Given the description of an element on the screen output the (x, y) to click on. 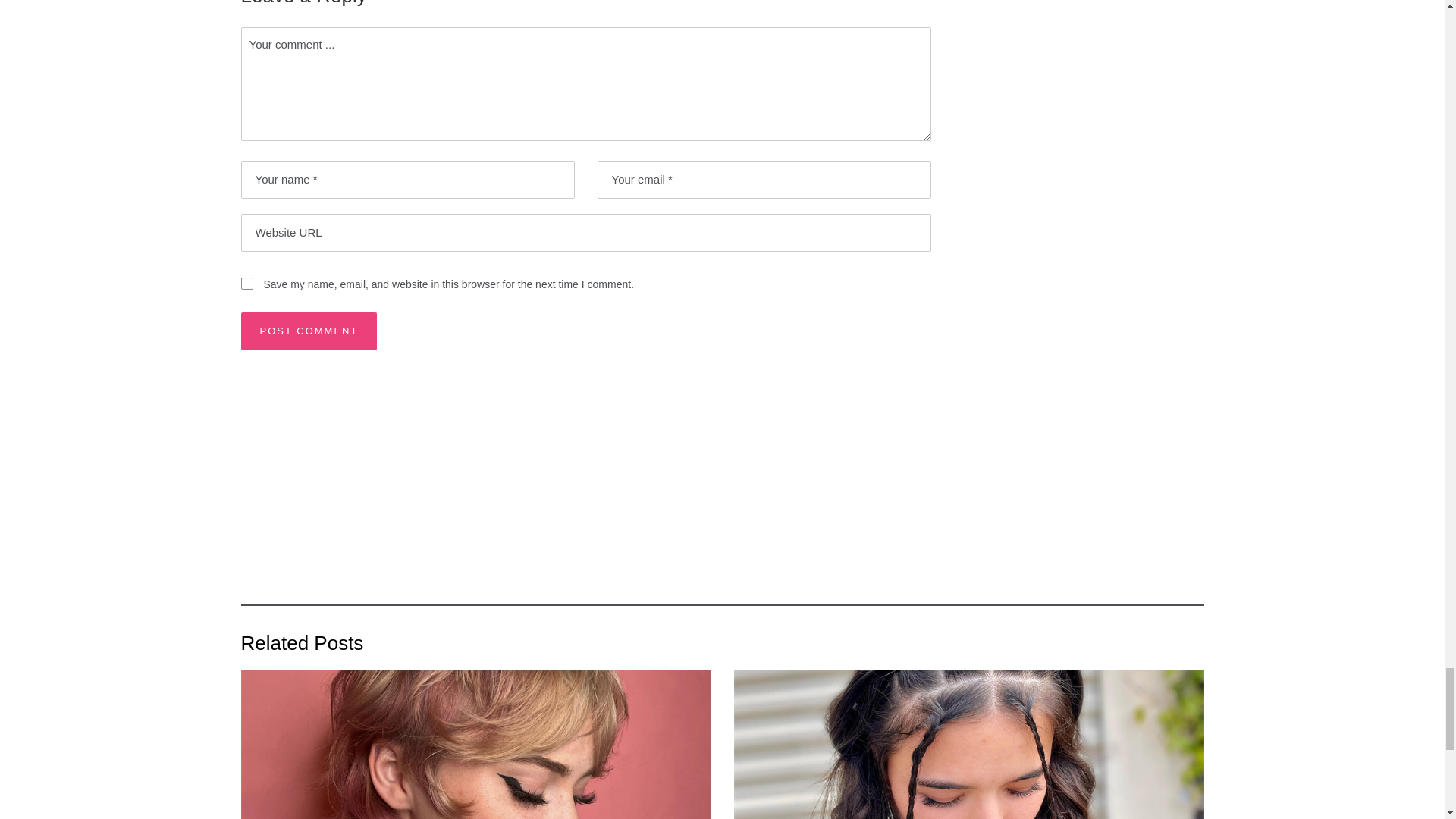
yes (247, 283)
Post Comment (309, 331)
